Given the description of an element on the screen output the (x, y) to click on. 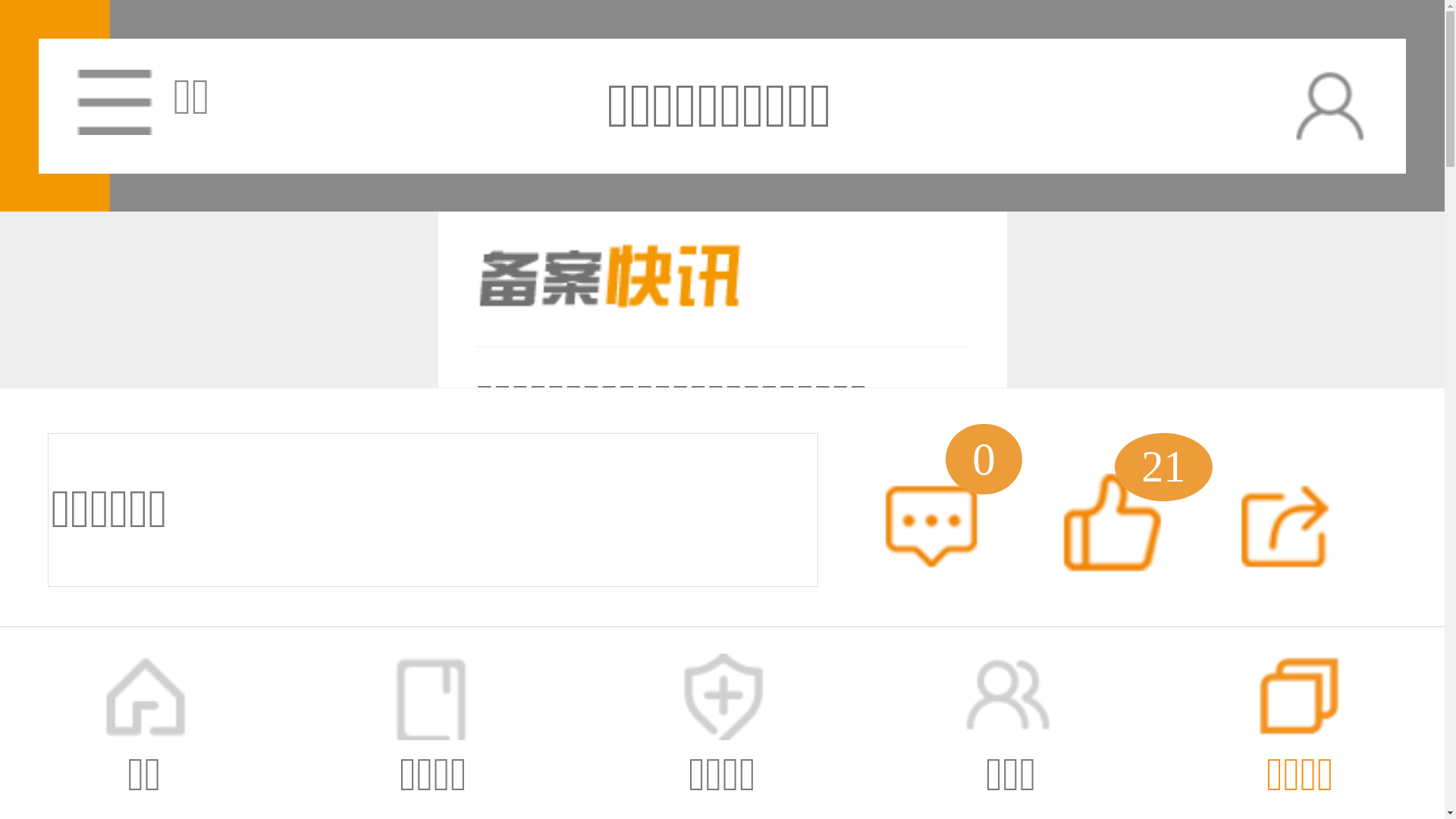
21 Element type: text (1111, 536)
0 Element type: text (923, 536)
